Given the description of an element on the screen output the (x, y) to click on. 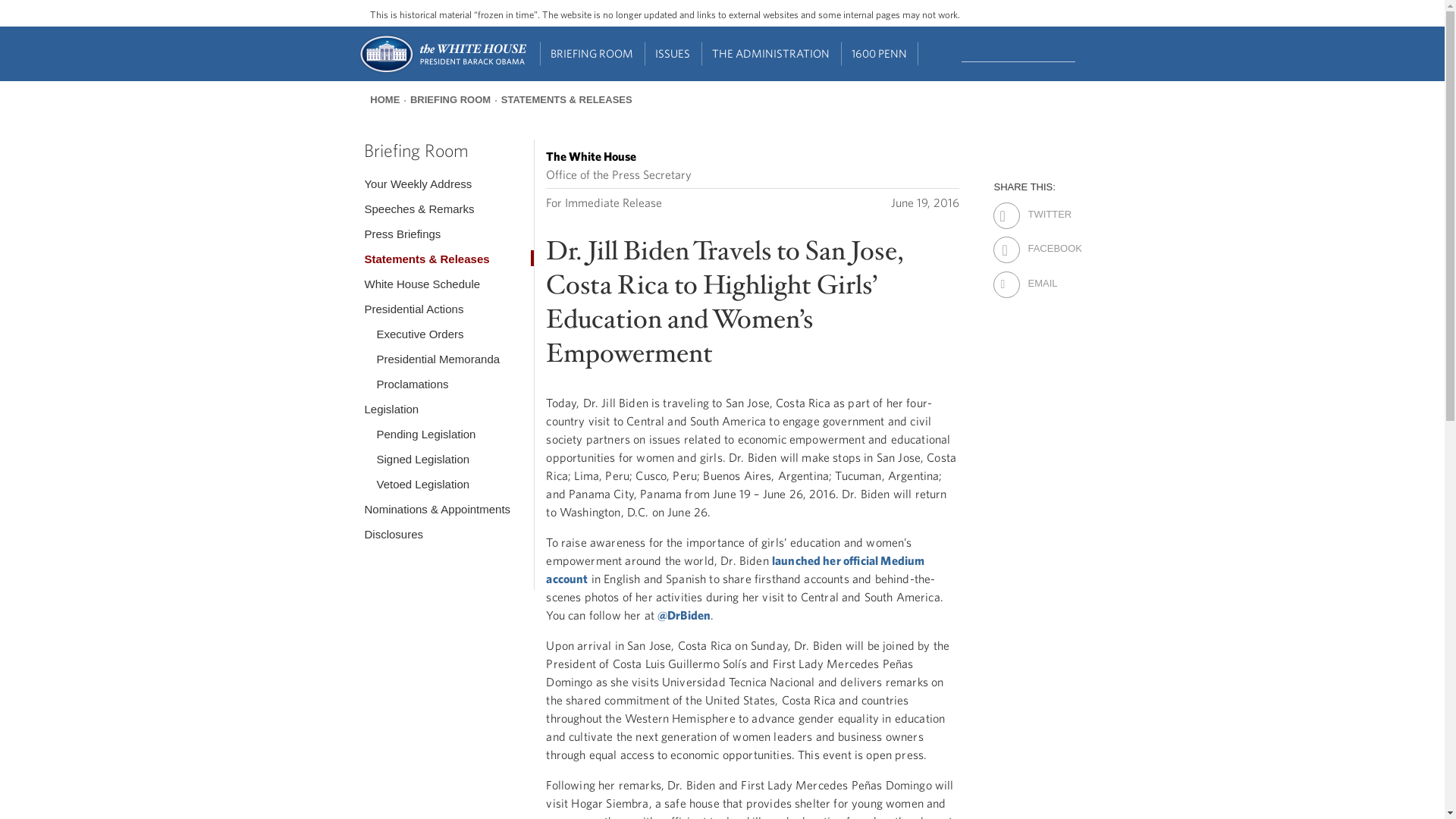
Home (441, 70)
Email (1040, 273)
ISSUES (673, 53)
Twitter (1040, 204)
Search (1076, 51)
Facebook (1040, 238)
BRIEFING ROOM (592, 53)
Enter the terms you wish to search for. (1017, 52)
